Given the description of an element on the screen output the (x, y) to click on. 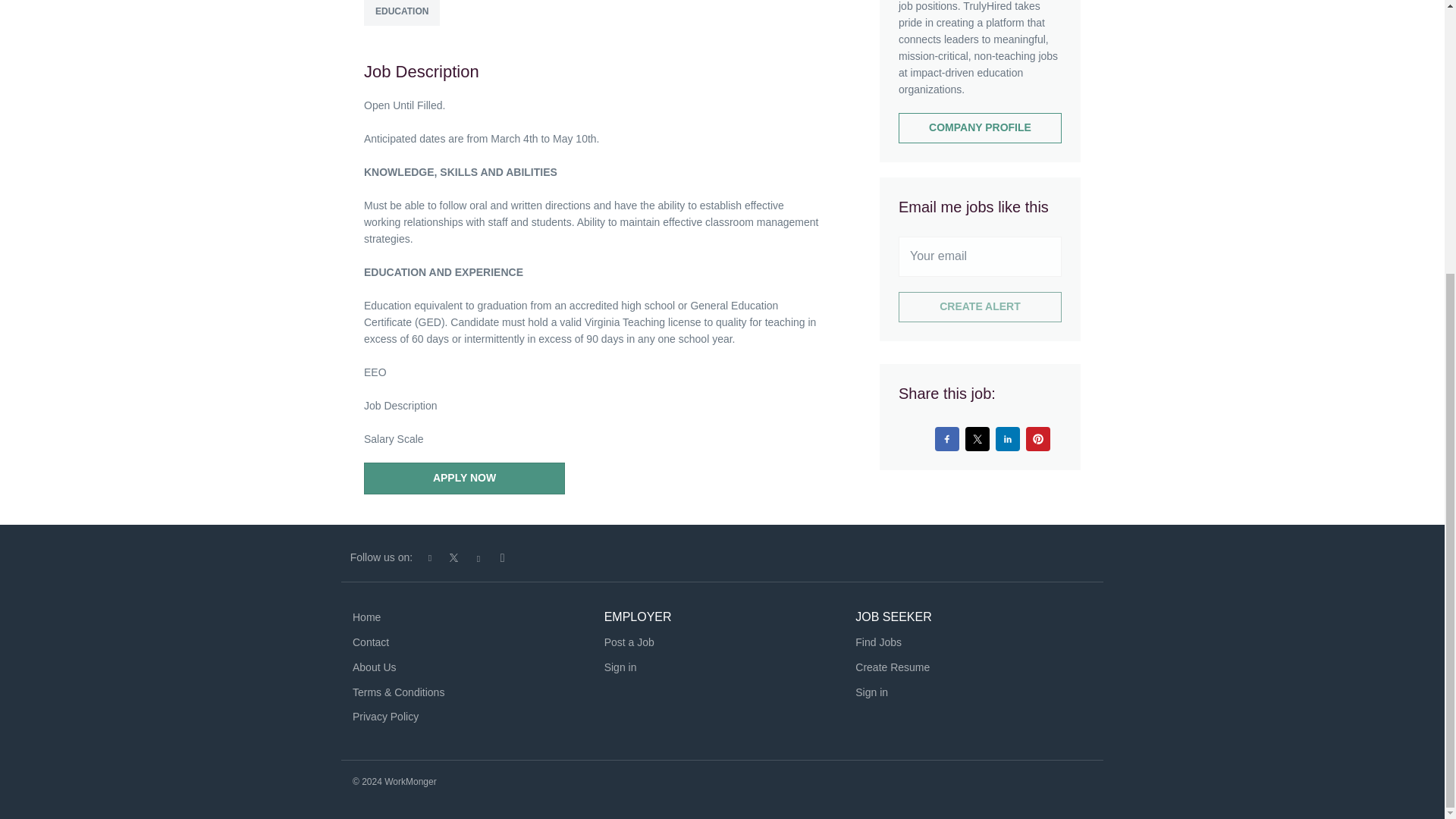
   Follow us on: (380, 557)
COMPANY PROFILE (979, 128)
APPLY NOW (464, 478)
Create alert (979, 306)
Home (366, 616)
Create alert (979, 306)
